Given the description of an element on the screen output the (x, y) to click on. 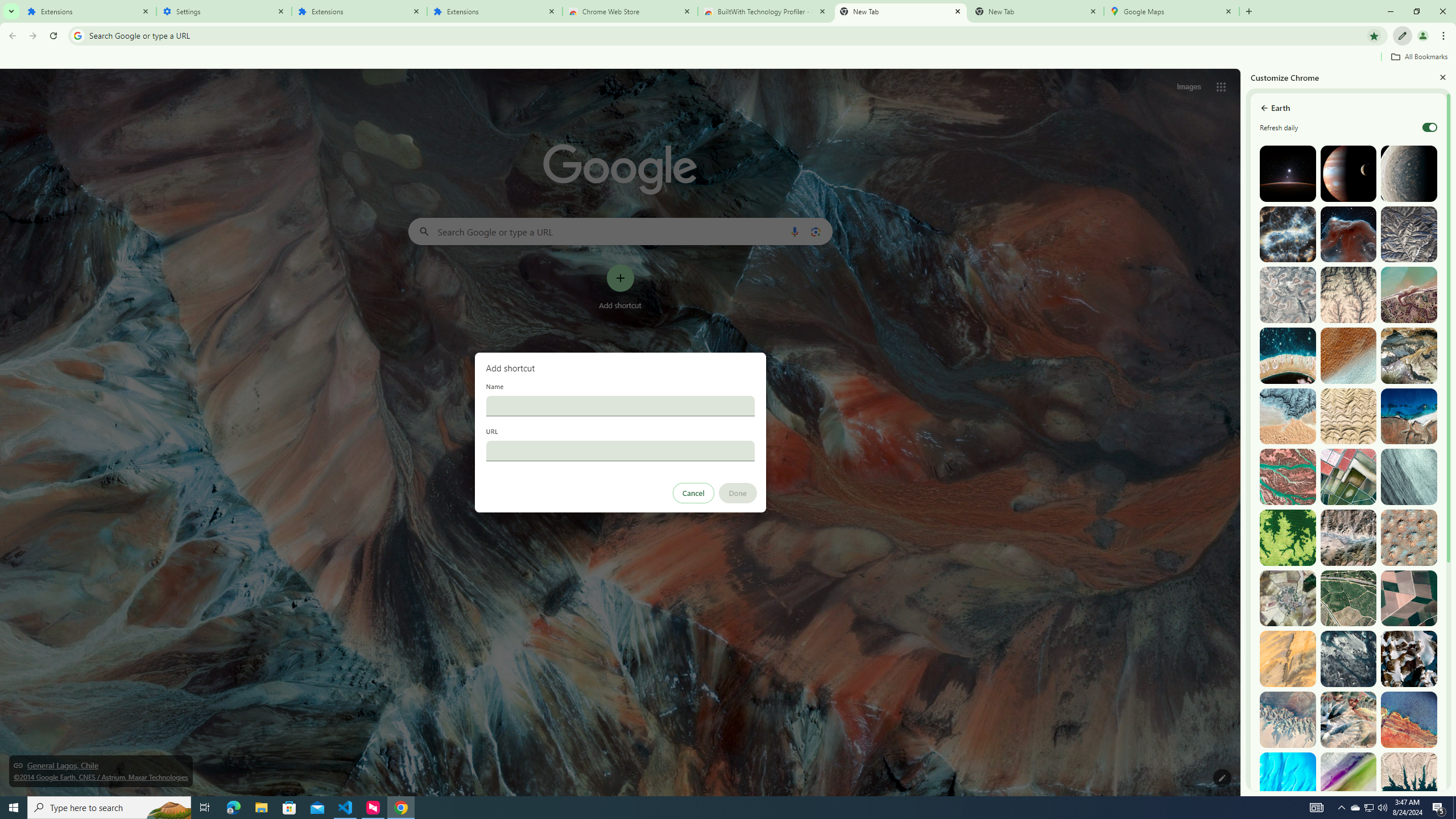
Refresh daily (1429, 126)
Done (737, 493)
Ngari, China (1348, 719)
The Tuamotu and Gambier Islands, French Polynesia (1287, 355)
Atar, Mauritania (1287, 658)
Side Panel Resize Handle (1242, 431)
Bookmarks (728, 58)
Address and search bar (725, 35)
Libya (1408, 719)
Kerman, Iran (1348, 416)
Antarctica (1408, 658)
Sanaag, Somalia (1348, 294)
Utrera, Spain (1408, 598)
